Given the description of an element on the screen output the (x, y) to click on. 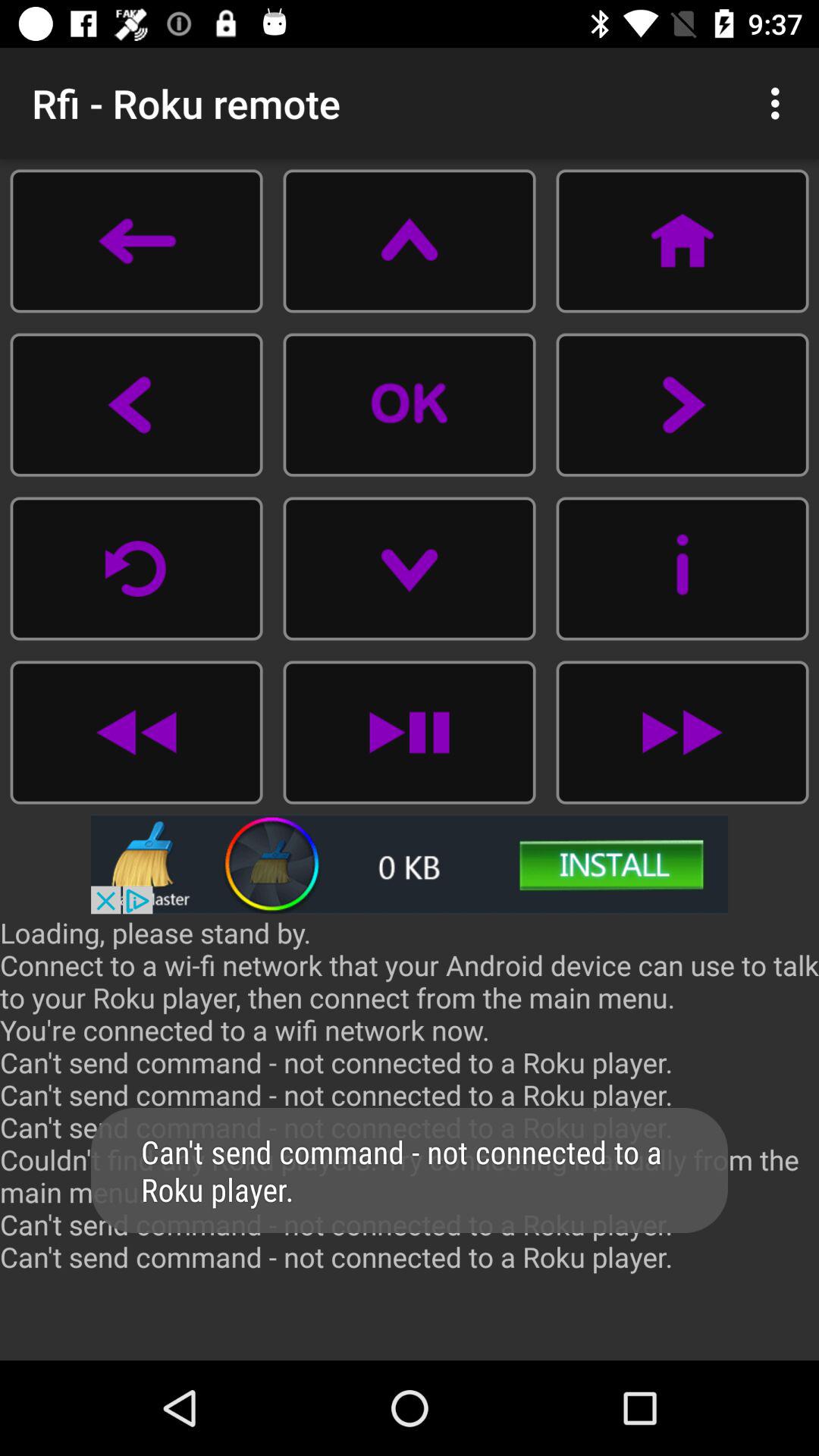
go to back (136, 732)
